Given the description of an element on the screen output the (x, y) to click on. 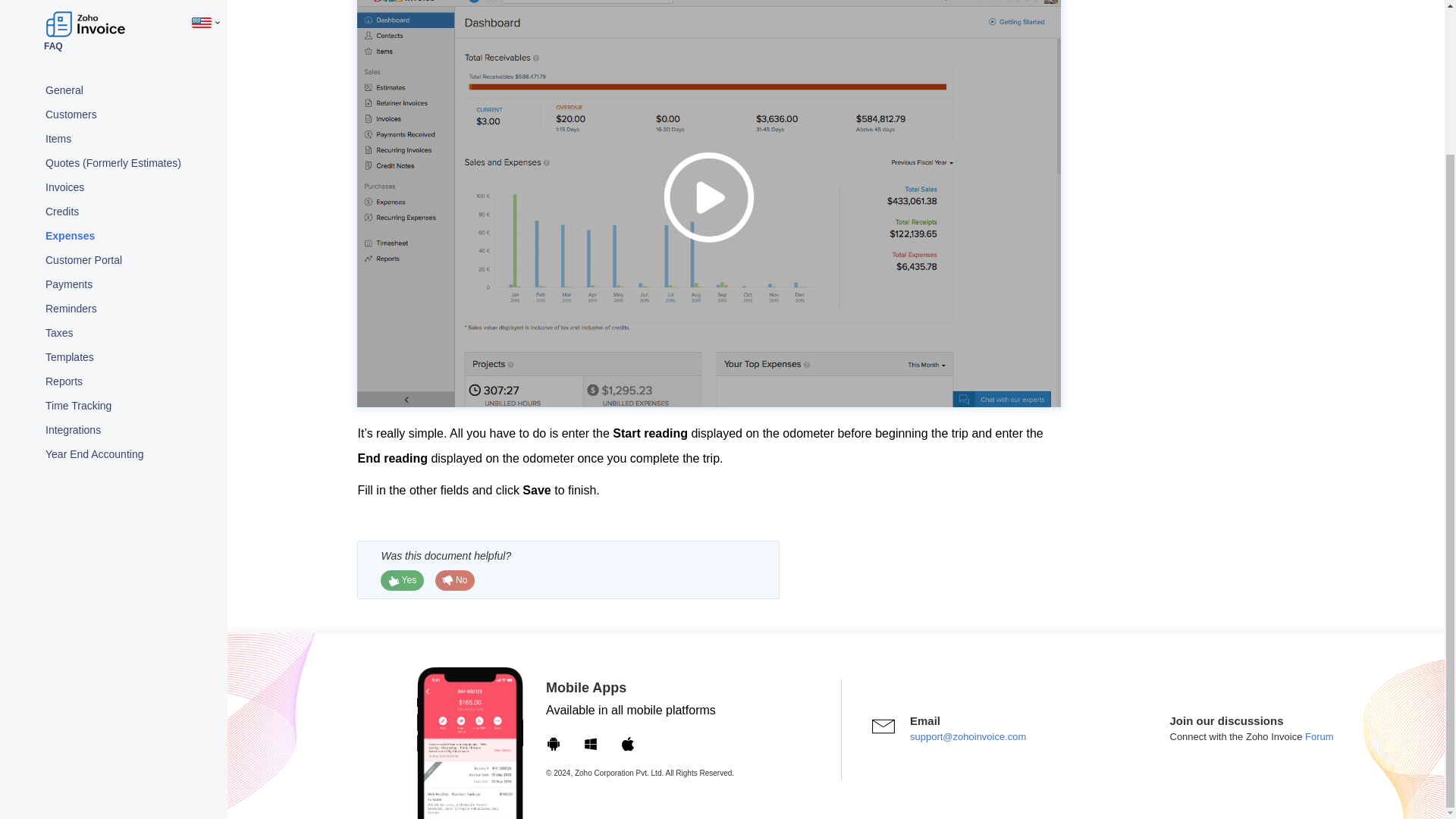
Forum (1317, 736)
Reports (129, 201)
Credits (129, 32)
Integrations (129, 250)
Expenses (129, 56)
Payments (129, 105)
Reminders (129, 128)
Taxes (129, 153)
Customer Portal (129, 80)
Time Tracking (129, 226)
Templates (129, 178)
Invoices (129, 9)
Year End Accounting (129, 274)
